Given the description of an element on the screen output the (x, y) to click on. 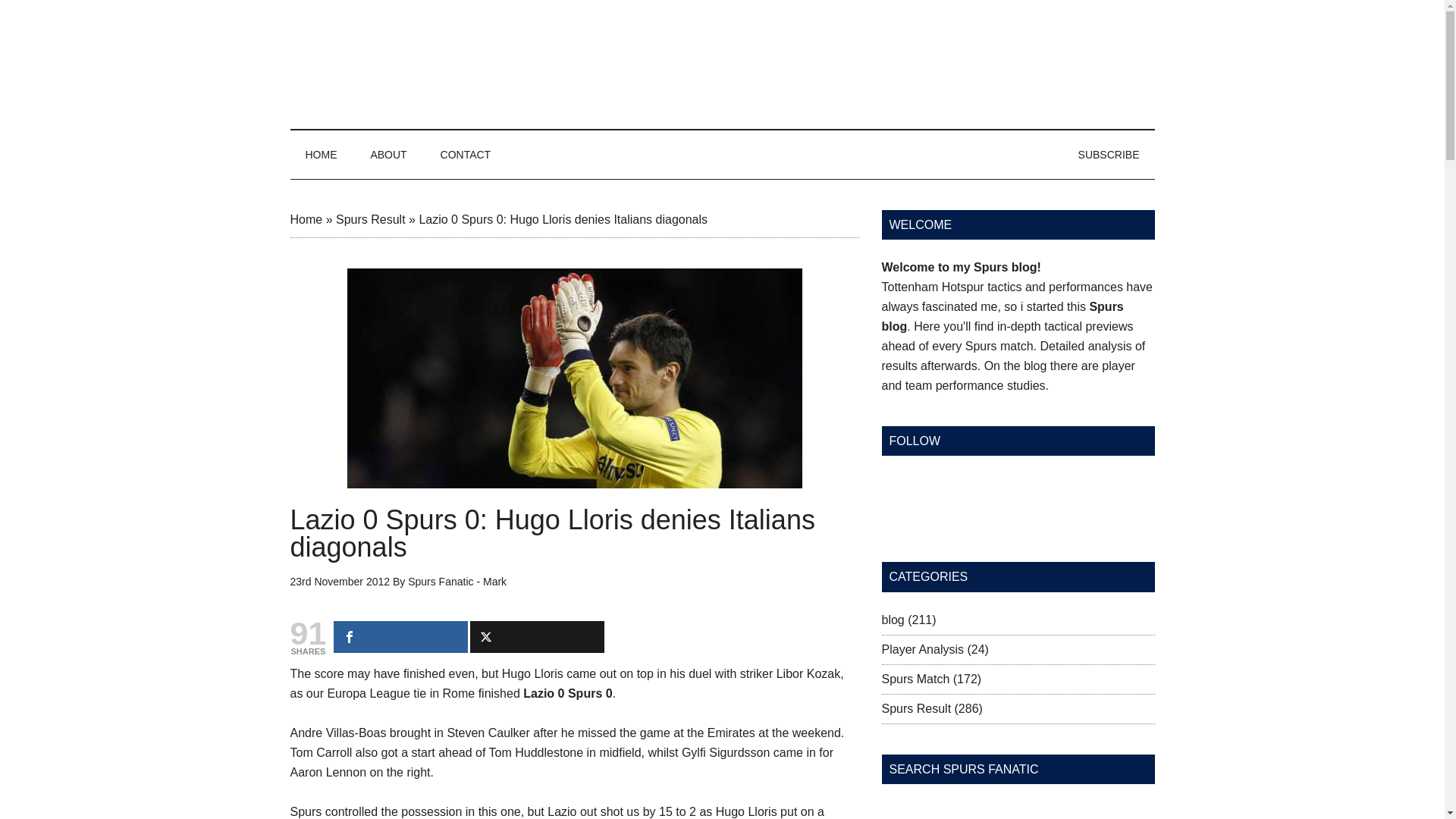
Spurs Result (371, 219)
Home (305, 219)
Share  (400, 636)
Spurs Fanatic (721, 64)
Spurs Fanatic - Mark (456, 581)
About (388, 154)
Homepage (320, 154)
HOME (320, 154)
SUBSCRIBE (1108, 154)
